Given the description of an element on the screen output the (x, y) to click on. 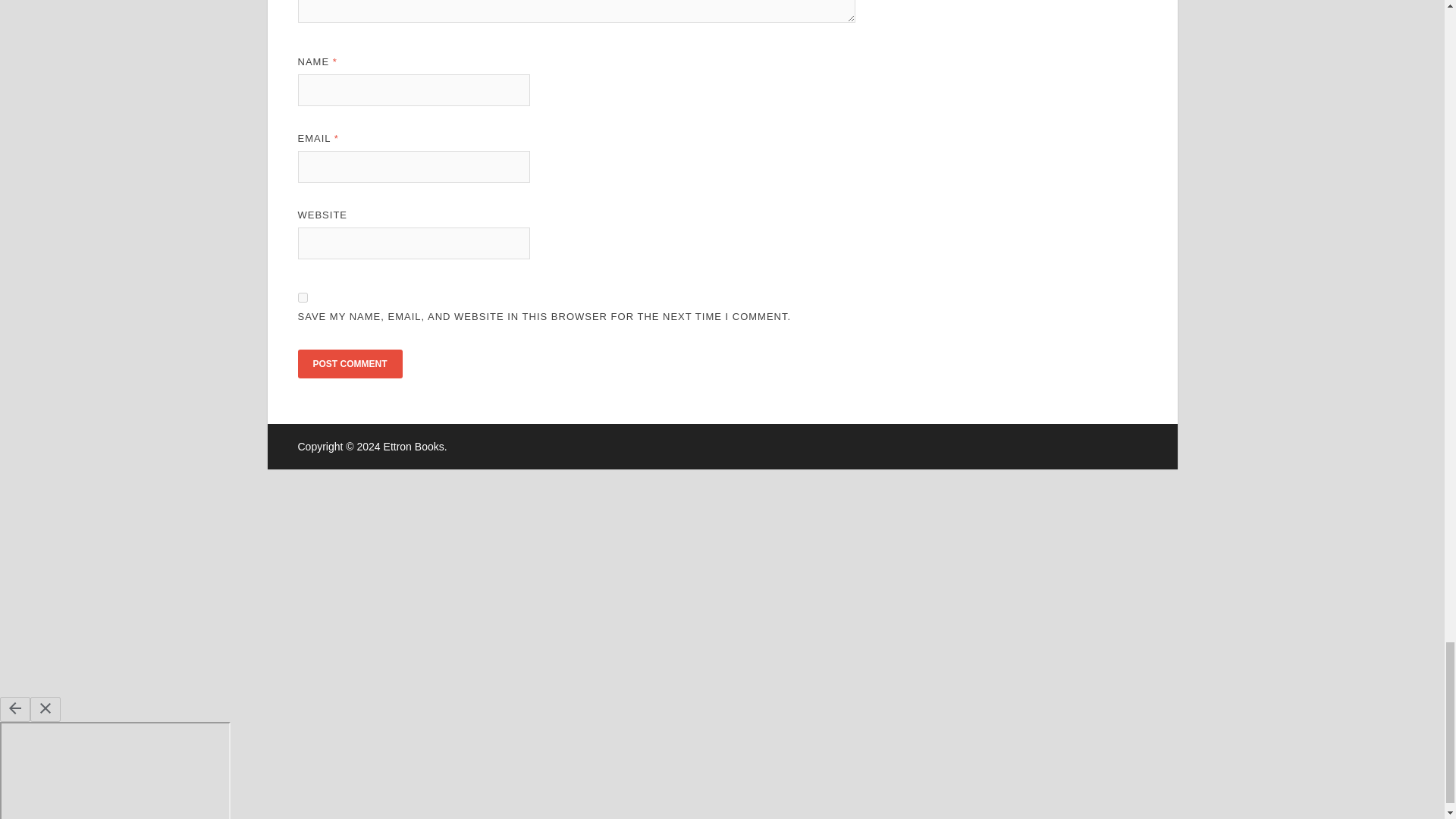
Ettron Books (414, 446)
Post Comment (349, 363)
yes (302, 297)
Post Comment (349, 363)
